Given the description of an element on the screen output the (x, y) to click on. 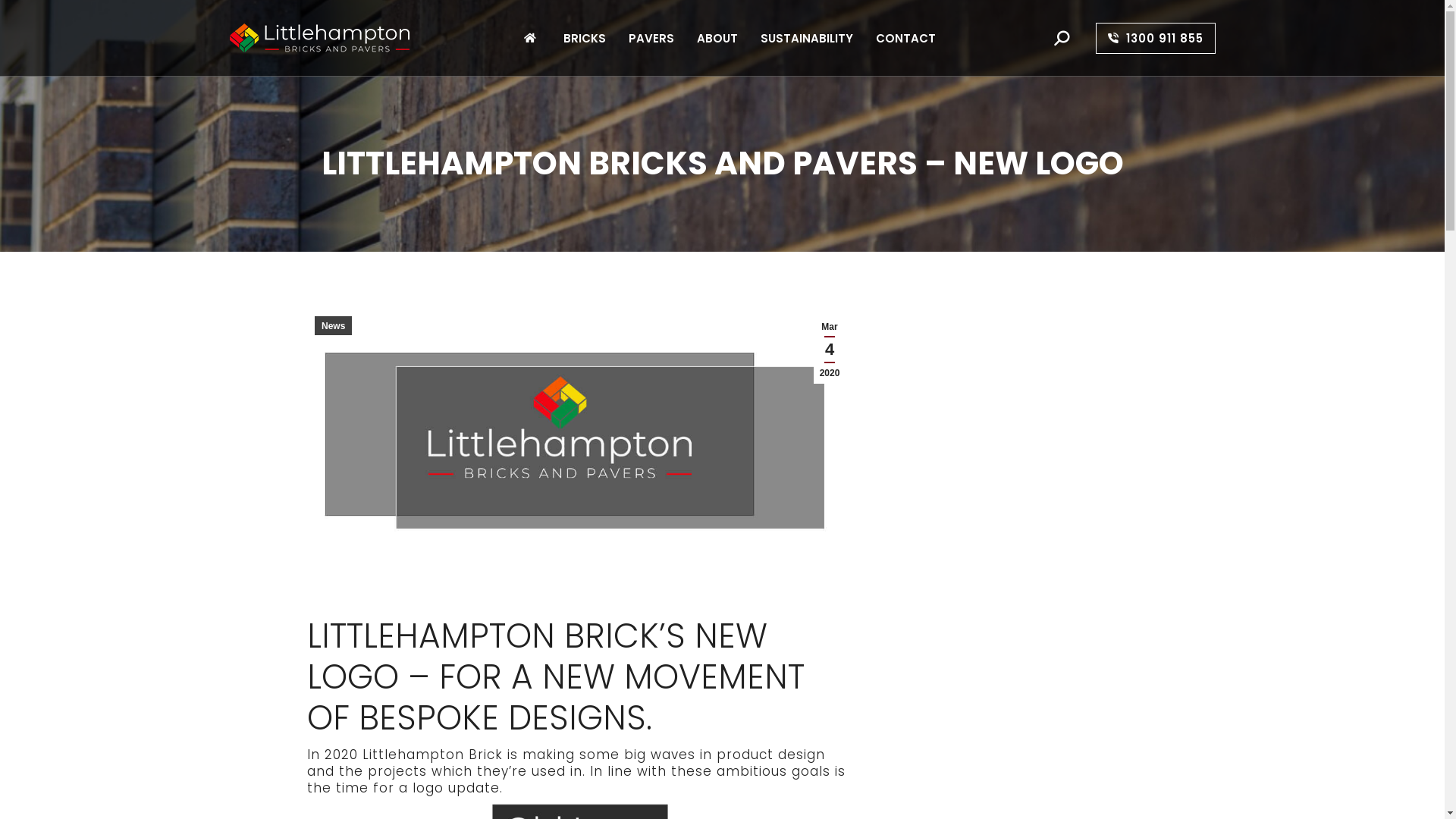
News Element type: text (332, 325)
New Logo Post Element type: hover (580, 444)
CONTACT Element type: text (905, 37)
BRICKS Element type: text (584, 37)
1300 911 855 Element type: text (1154, 37)
SUSTAINABILITY Element type: text (806, 37)
PAVERS Element type: text (651, 37)
Go! Element type: text (18, 18)
Mar
4
2020 Element type: text (829, 349)
product design Element type: text (770, 754)
Go! Element type: text (740, 442)
ABOUT Element type: text (717, 37)
